Given the description of an element on the screen output the (x, y) to click on. 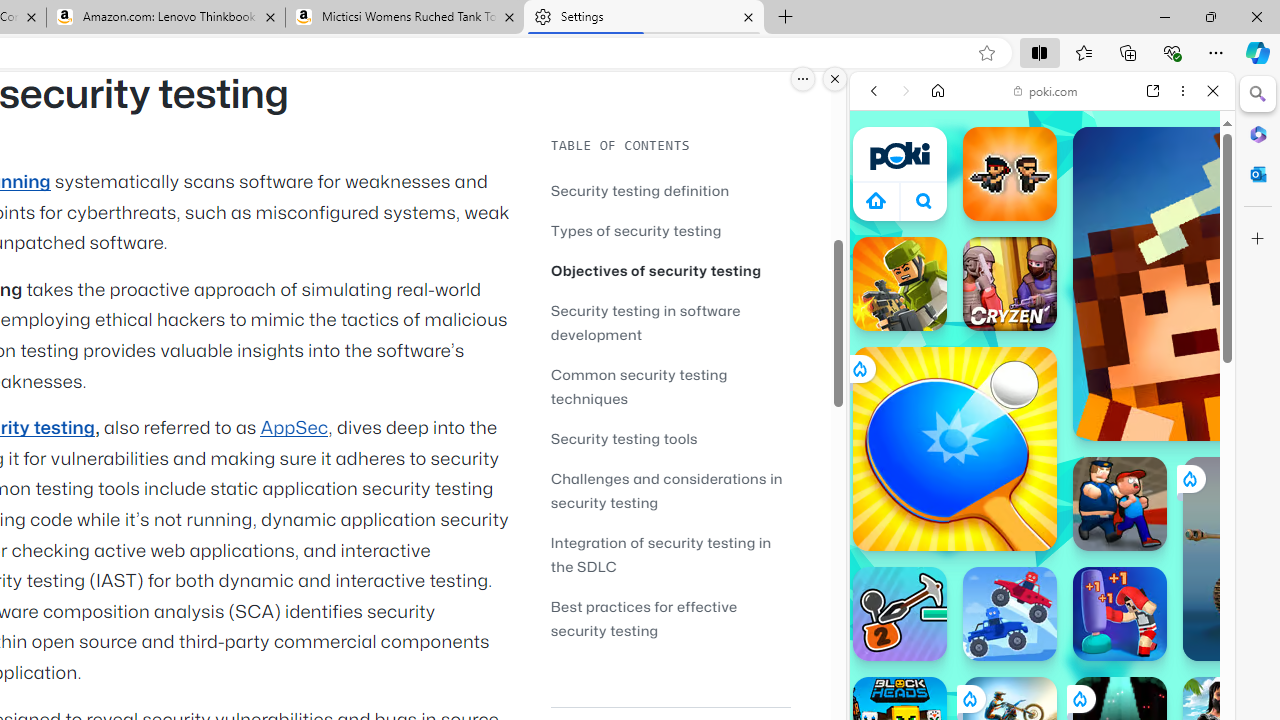
poki.com (1046, 90)
Kour.io (899, 283)
Sports Games (1042, 665)
Security testing tools (623, 438)
Challenges and considerations in security testing (670, 489)
Cryzen.io (1009, 283)
